Given the description of an element on the screen output the (x, y) to click on. 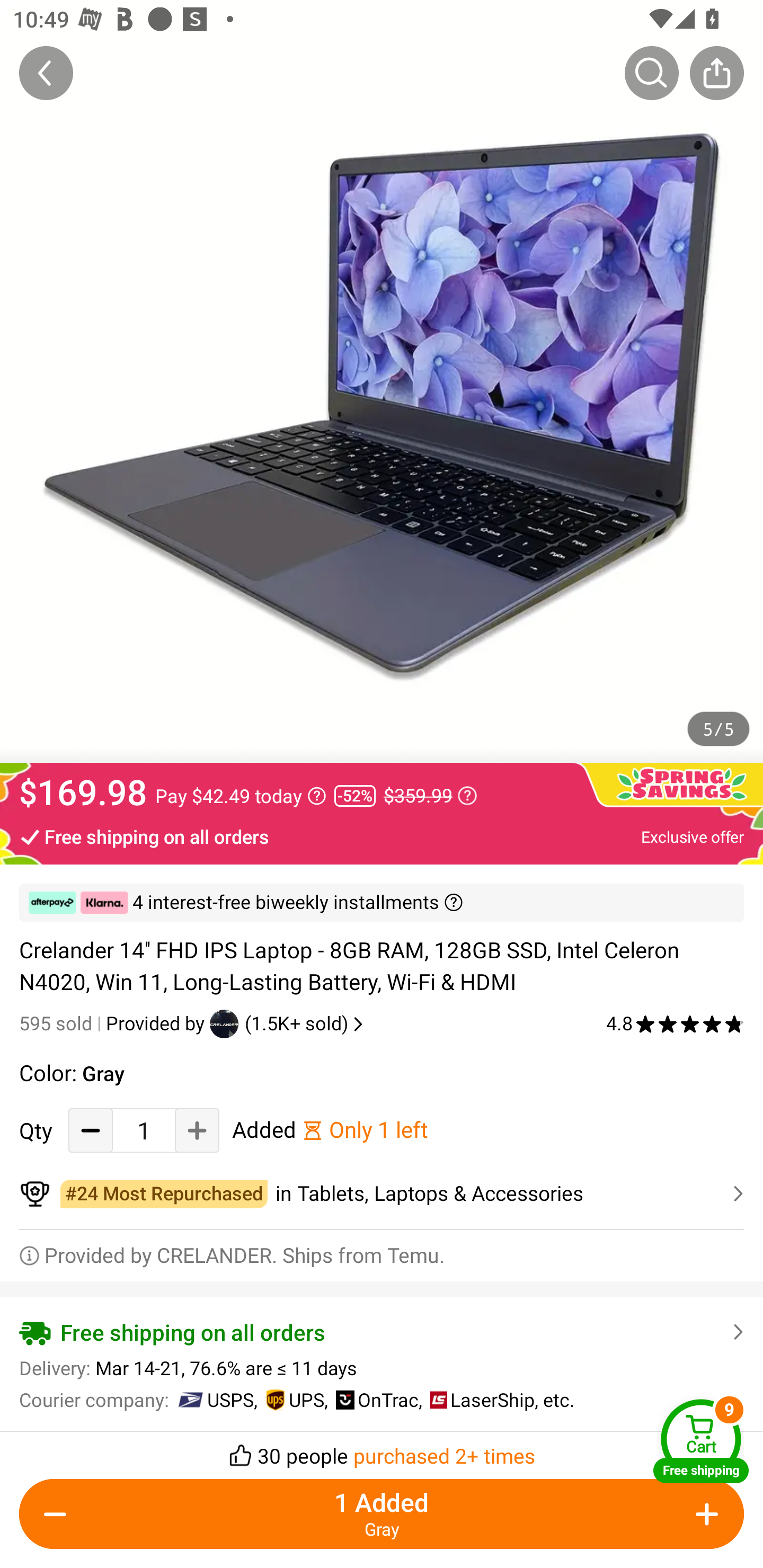
Back (46, 72)
Share (716, 72)
Pay $42.49 today   (240, 795)
Free shipping on all orders Exclusive offer (381, 836)
￼ ￼ 4 interest-free biweekly installments ￼ (381, 902)
595 sold Provided by  (114, 1023)
4.8 (674, 1023)
Decrease Quantity Button (90, 1130)
1 (143, 1130)
Add Quantity button (196, 1130)
￼￼in Tablets, Laptops & Accessories (381, 1193)
Cart Free shipping Cart (701, 1440)
￼￼30 people purchased 2+ times (381, 1450)
Decrease Quantity Button (59, 1513)
Add Quantity button (703, 1513)
